Given the description of an element on the screen output the (x, y) to click on. 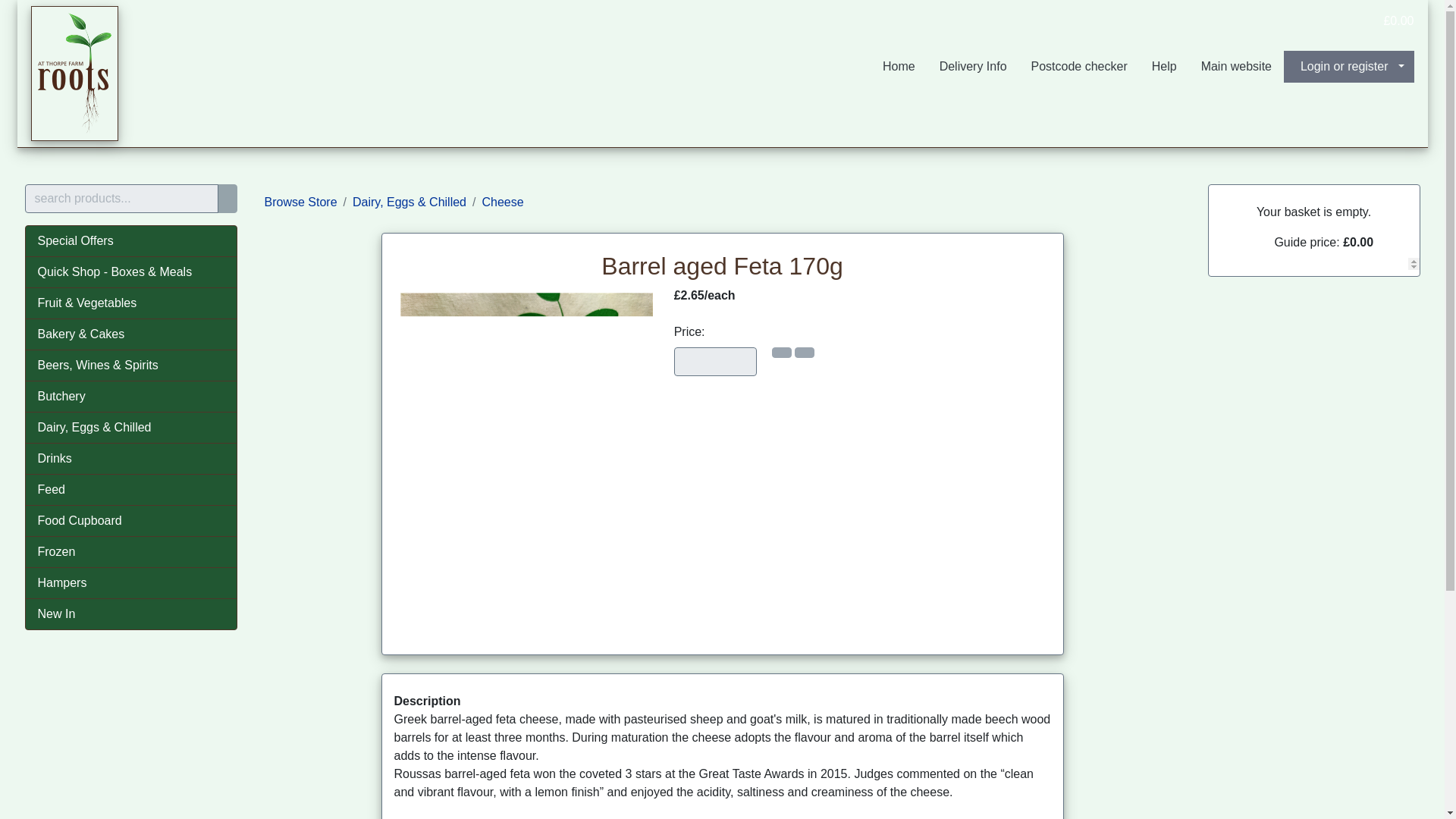
Main website (1236, 66)
  Login or register   (1348, 66)
Delivery Info (973, 66)
Help (1164, 66)
Postcode checker (1079, 66)
Special Offers (130, 241)
Home (898, 66)
